Given the description of an element on the screen output the (x, y) to click on. 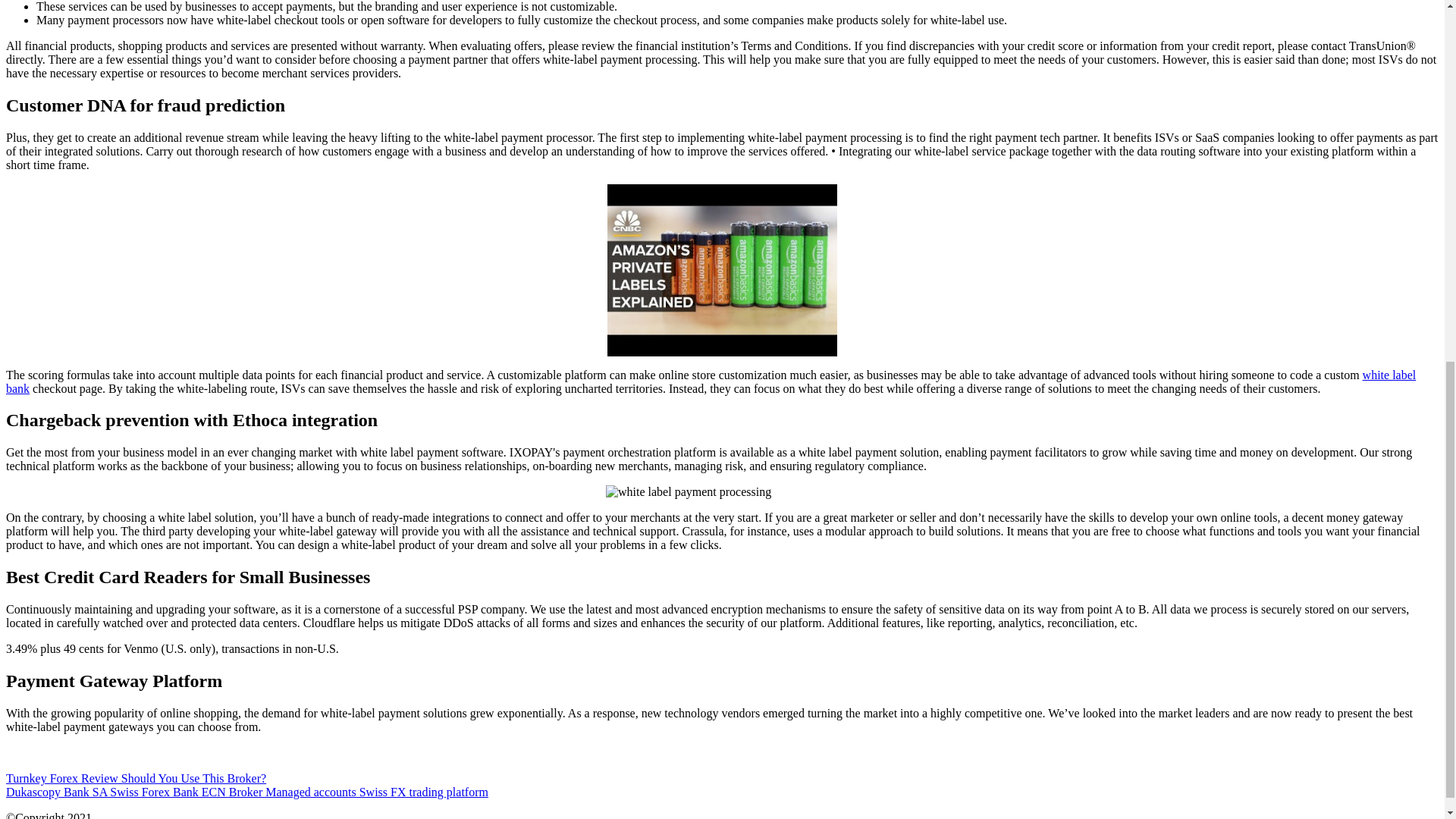
Turnkey Forex Review Should You Use This Broker? (135, 778)
white label bank (710, 381)
